Given the description of an element on the screen output the (x, y) to click on. 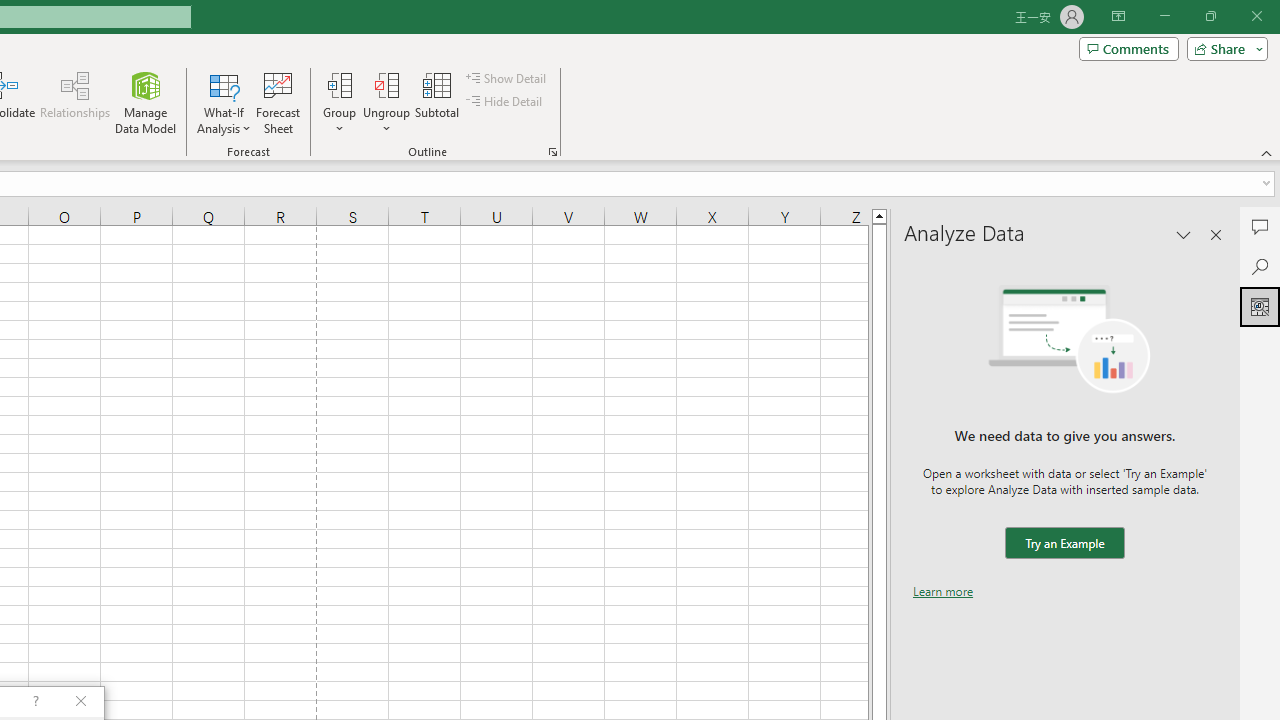
Share (1223, 48)
We need data to give you answers. Try an Example (1064, 543)
Analyze Data (1260, 306)
Line up (879, 215)
Comments (1260, 226)
What-If Analysis (223, 102)
Group and Outline Settings (552, 151)
Restore Down (1210, 16)
Learn more (943, 591)
Ungroup... (386, 102)
Close (1256, 16)
Subtotal (437, 102)
Forecast Sheet (278, 102)
